Given the description of an element on the screen output the (x, y) to click on. 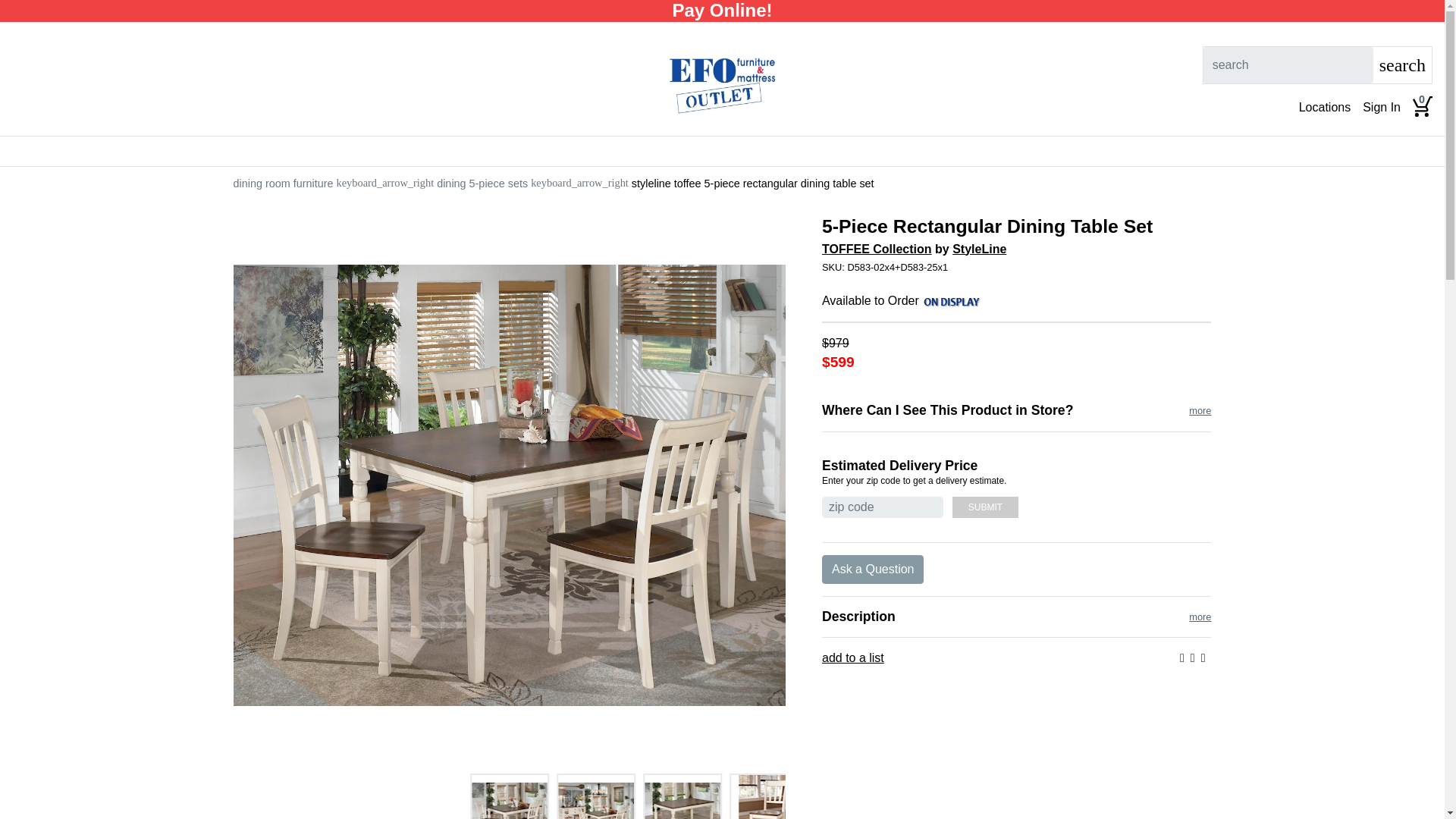
StyleLine (979, 248)
add to a list (852, 658)
TOFFEE Collection (876, 248)
SUBMIT (984, 506)
Ask a Question (873, 569)
dining 5-piece sets (481, 183)
Sign In (1381, 107)
dining room furniture (282, 183)
Locations (1324, 107)
